Given the description of an element on the screen output the (x, y) to click on. 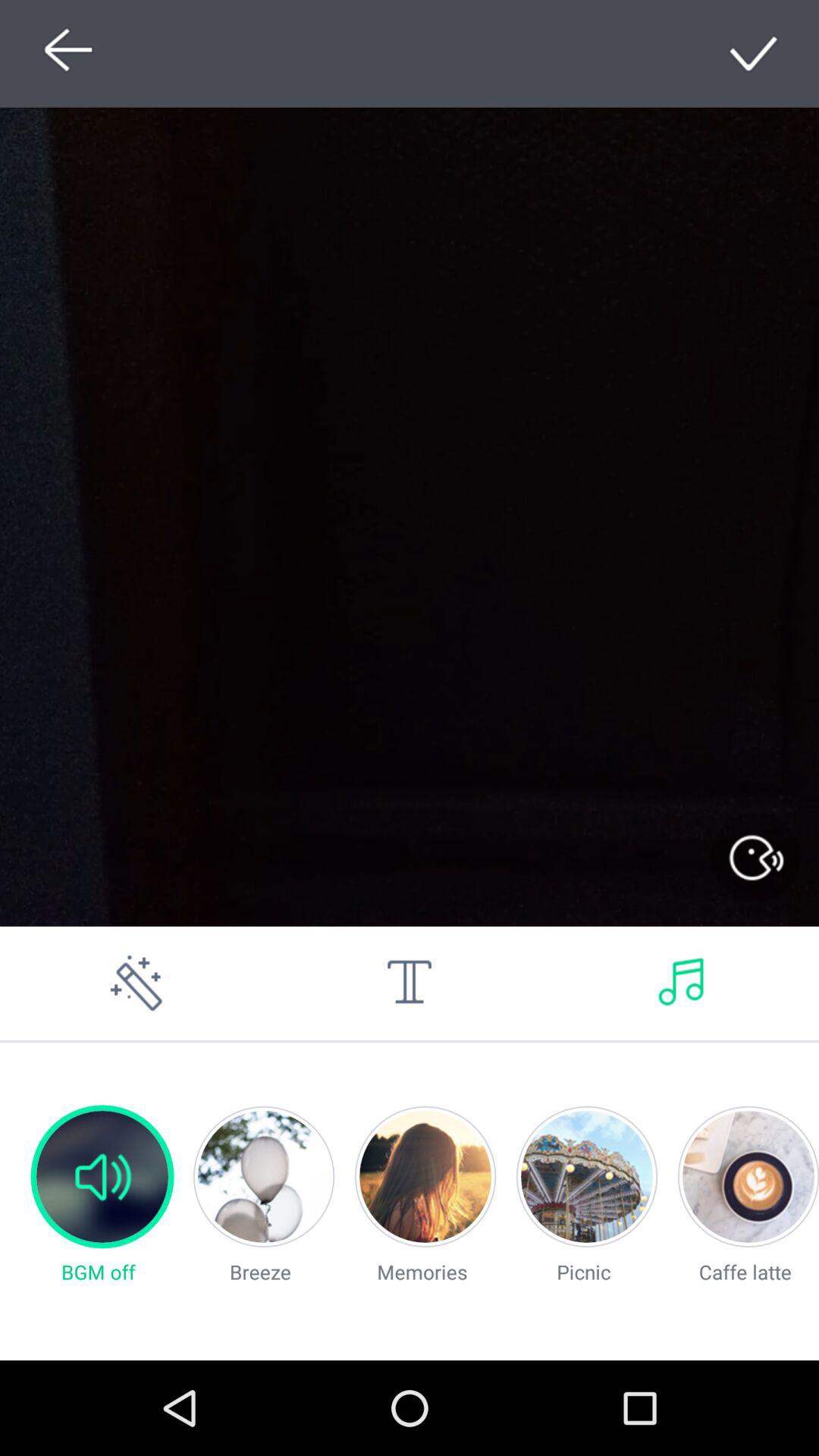
music image (682, 983)
